Given the description of an element on the screen output the (x, y) to click on. 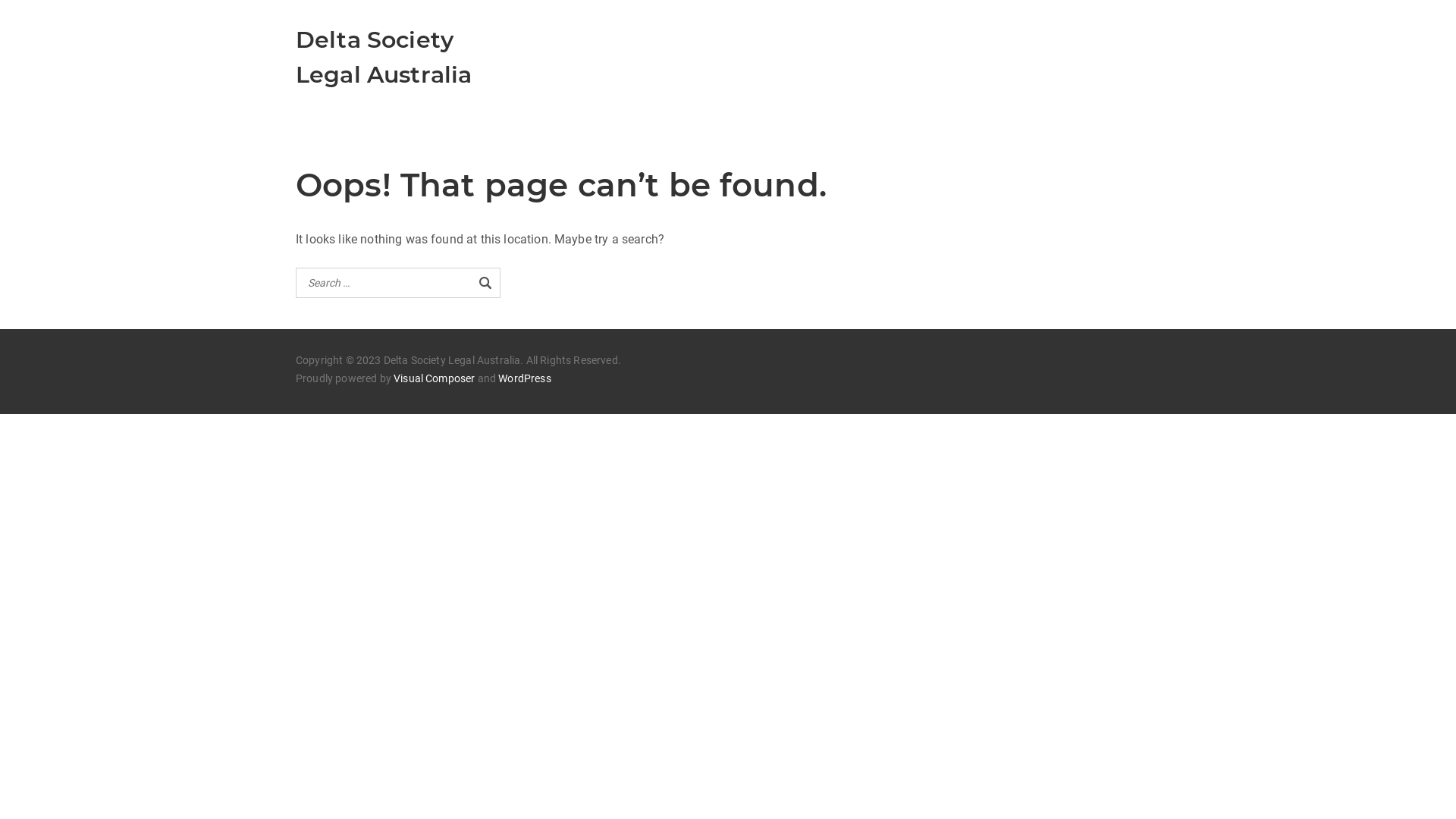
Visual Composer Element type: text (433, 378)
WordPress Element type: text (524, 378)
Delta Society Legal Australia Element type: text (383, 56)
